Given the description of an element on the screen output the (x, y) to click on. 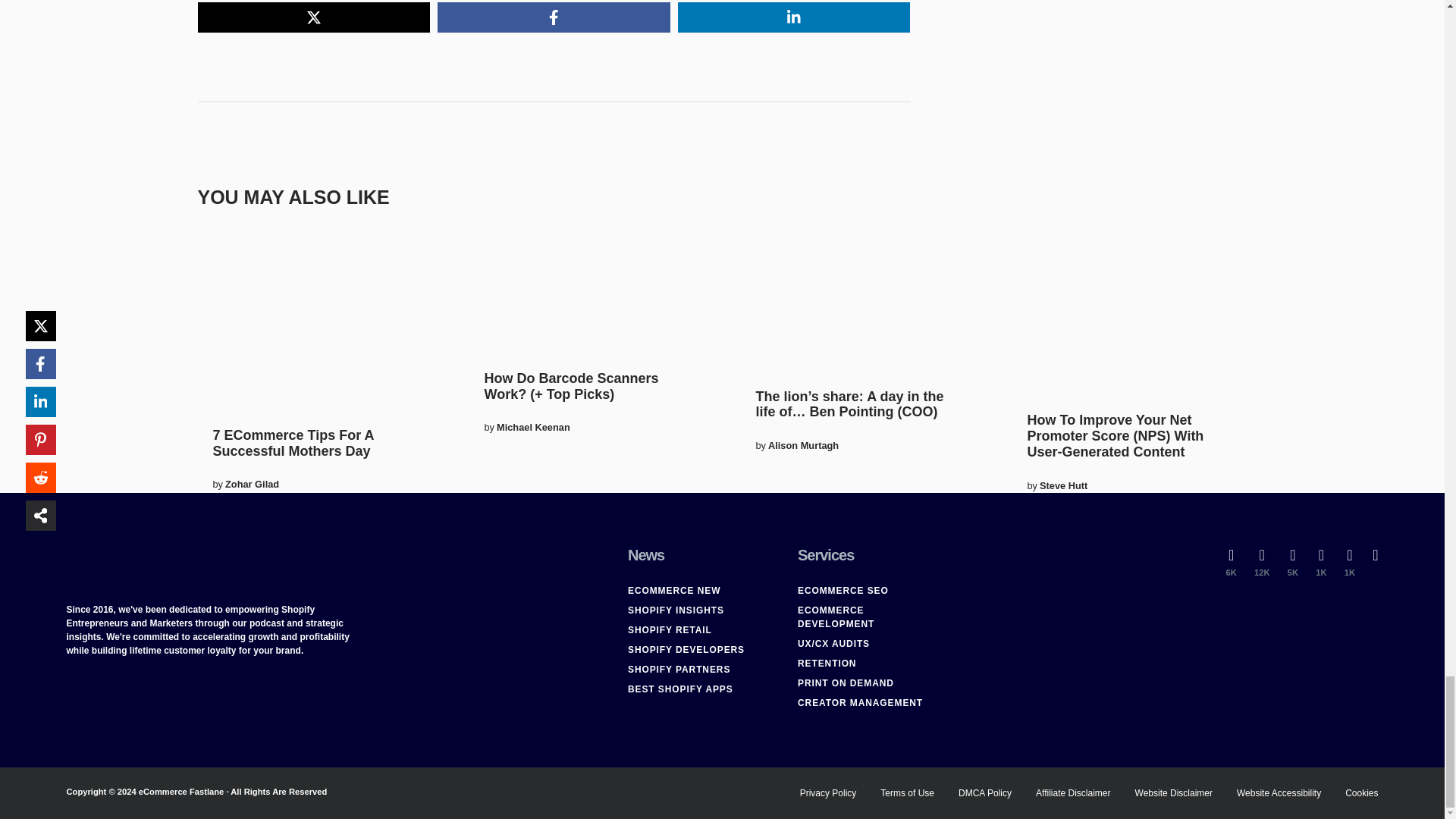
View all posts by Alison Murtagh (803, 445)
View all posts by Michael Keenan (533, 427)
View all posts by Zohar Gilad (252, 483)
